Given the description of an element on the screen output the (x, y) to click on. 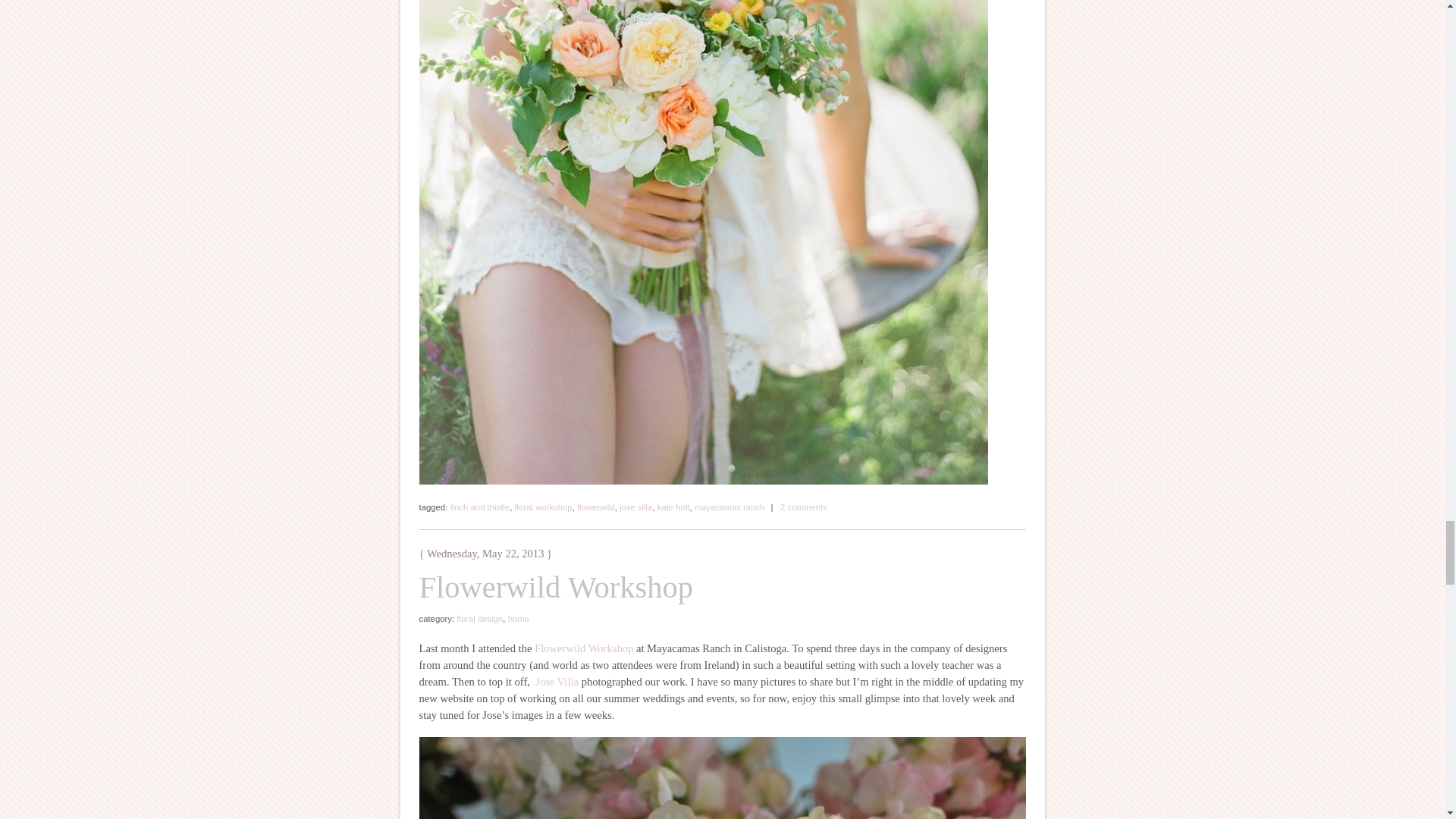
Jose Villa (556, 681)
finch and thistle (479, 506)
Permalink to Flowerwild Workshop (556, 587)
flowerwild workshop 2012 (583, 648)
